Given the description of an element on the screen output the (x, y) to click on. 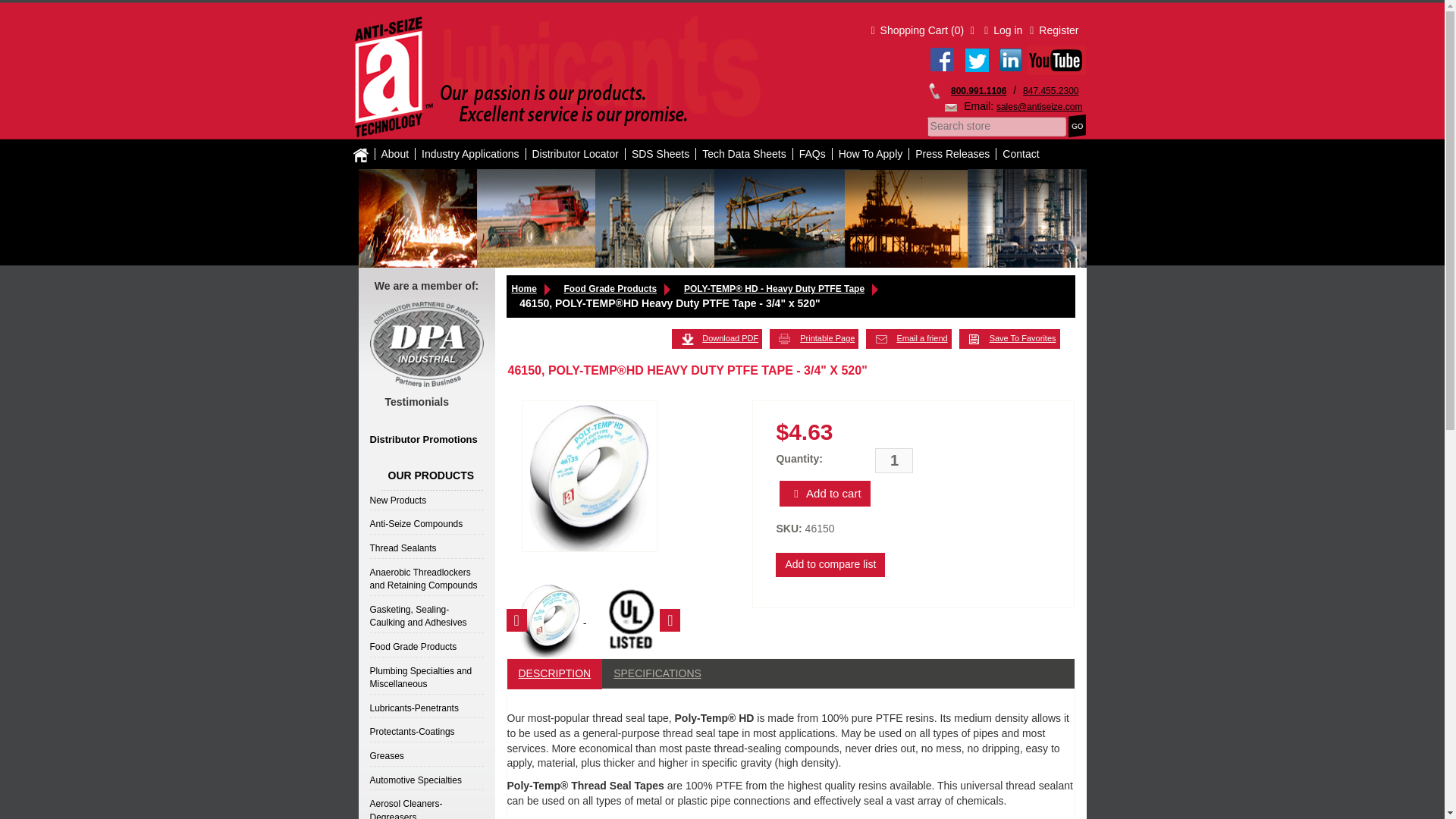
Download PDF (716, 338)
Save To Favorites (1009, 338)
Printable Page (814, 338)
FAQs (812, 153)
How To Apply (871, 153)
Search (1077, 126)
About (394, 153)
Register (1053, 29)
Industry Applications (469, 153)
847.455.2300 (1050, 90)
800.991.1106 (978, 90)
Testimonials (409, 401)
Search (1077, 126)
Log in (1003, 29)
Search (1077, 126)
